Given the description of an element on the screen output the (x, y) to click on. 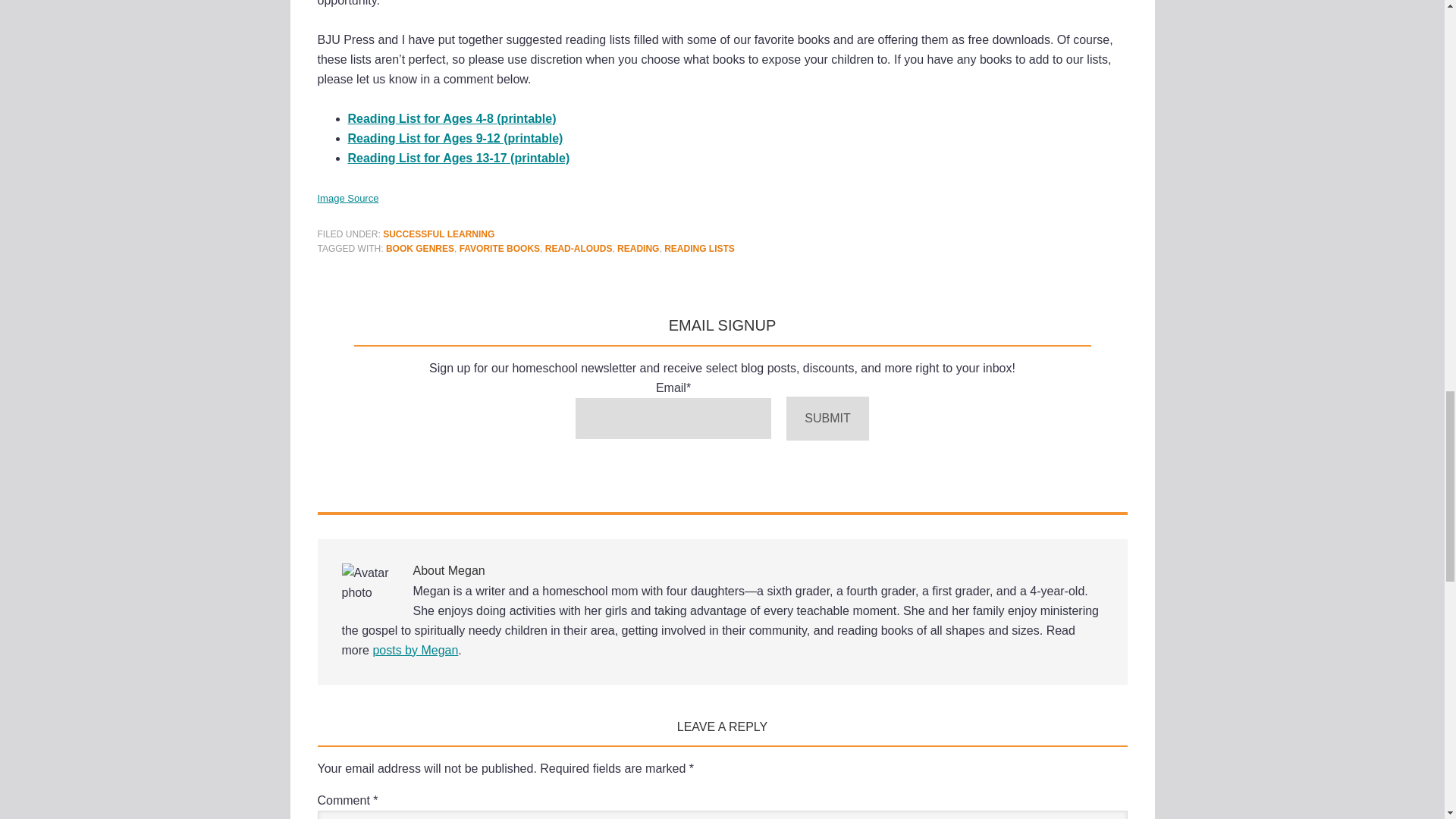
BOOK GENRES (419, 248)
SUCCESSFUL LEARNING (438, 234)
Image Source (347, 197)
